Given the description of an element on the screen output the (x, y) to click on. 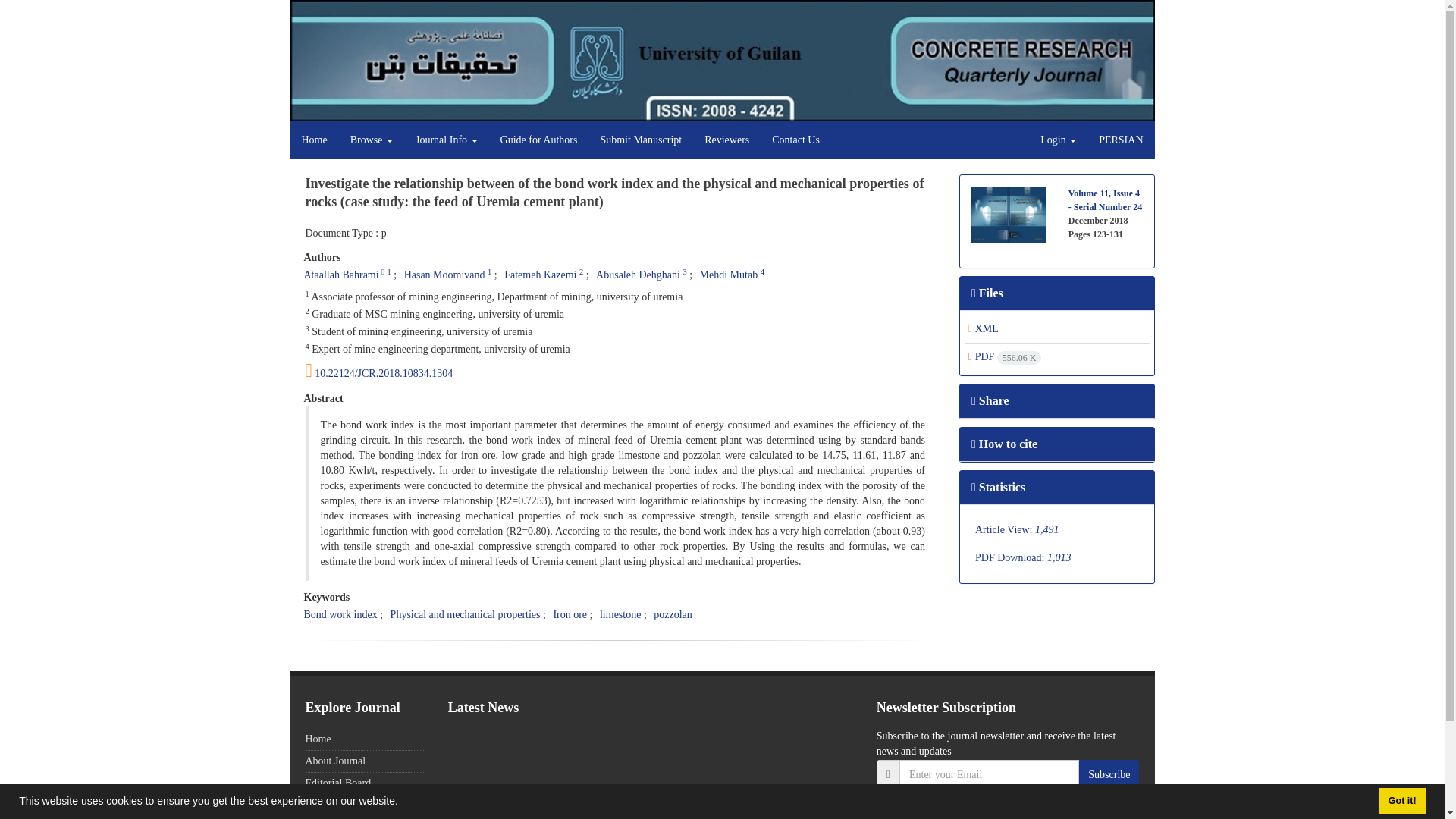
Browse (371, 139)
DOI (620, 370)
Guide for Authors (539, 139)
Got it! (1401, 800)
Mehdi Mutab (729, 274)
PERSIAN (1120, 139)
Hasan Moomivand (444, 274)
Contact Us (795, 139)
Fatemeh Kazemi (539, 274)
Journal Info (446, 139)
